Given the description of an element on the screen output the (x, y) to click on. 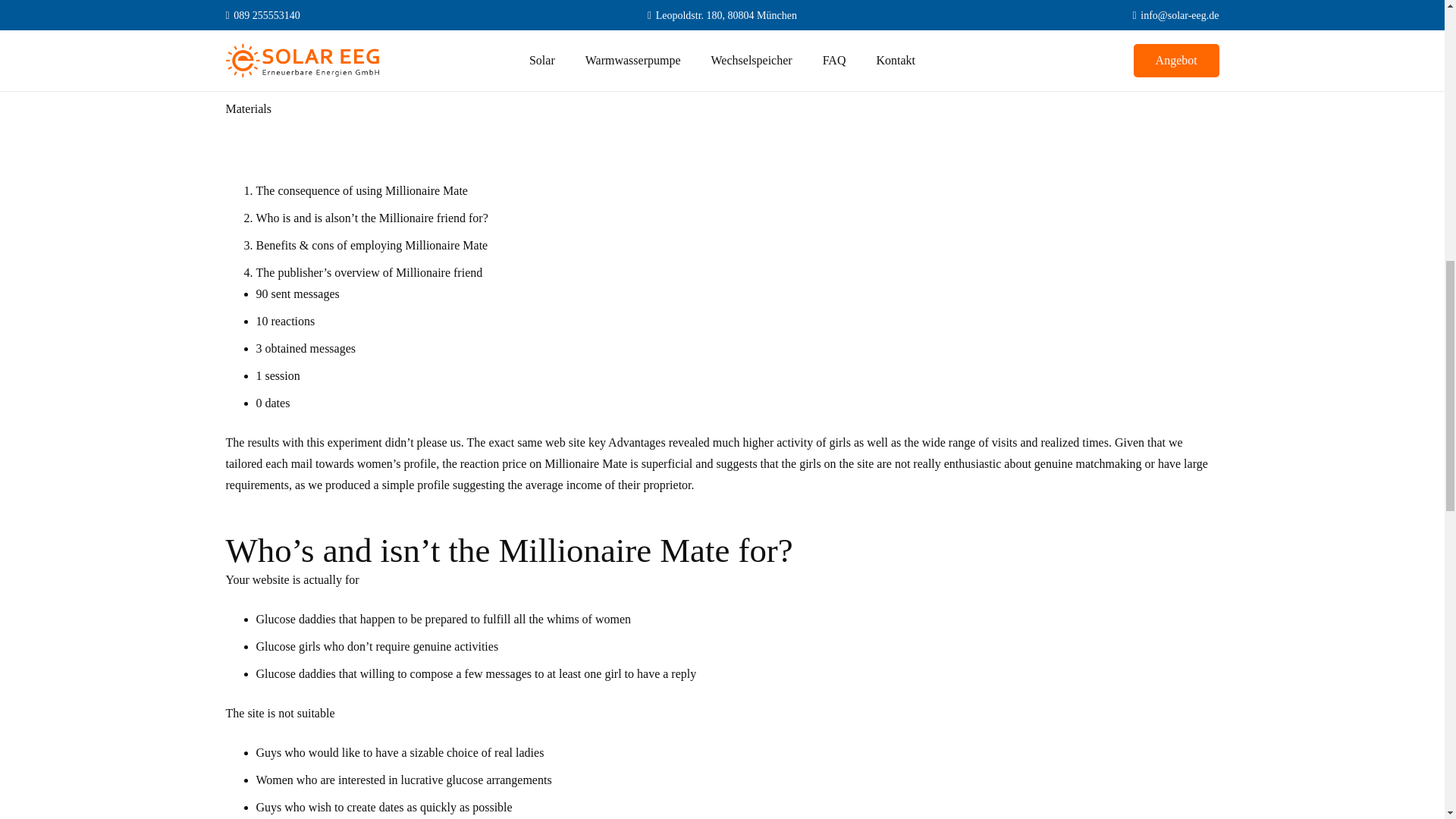
Back to top (1413, 26)
